Given the description of an element on the screen output the (x, y) to click on. 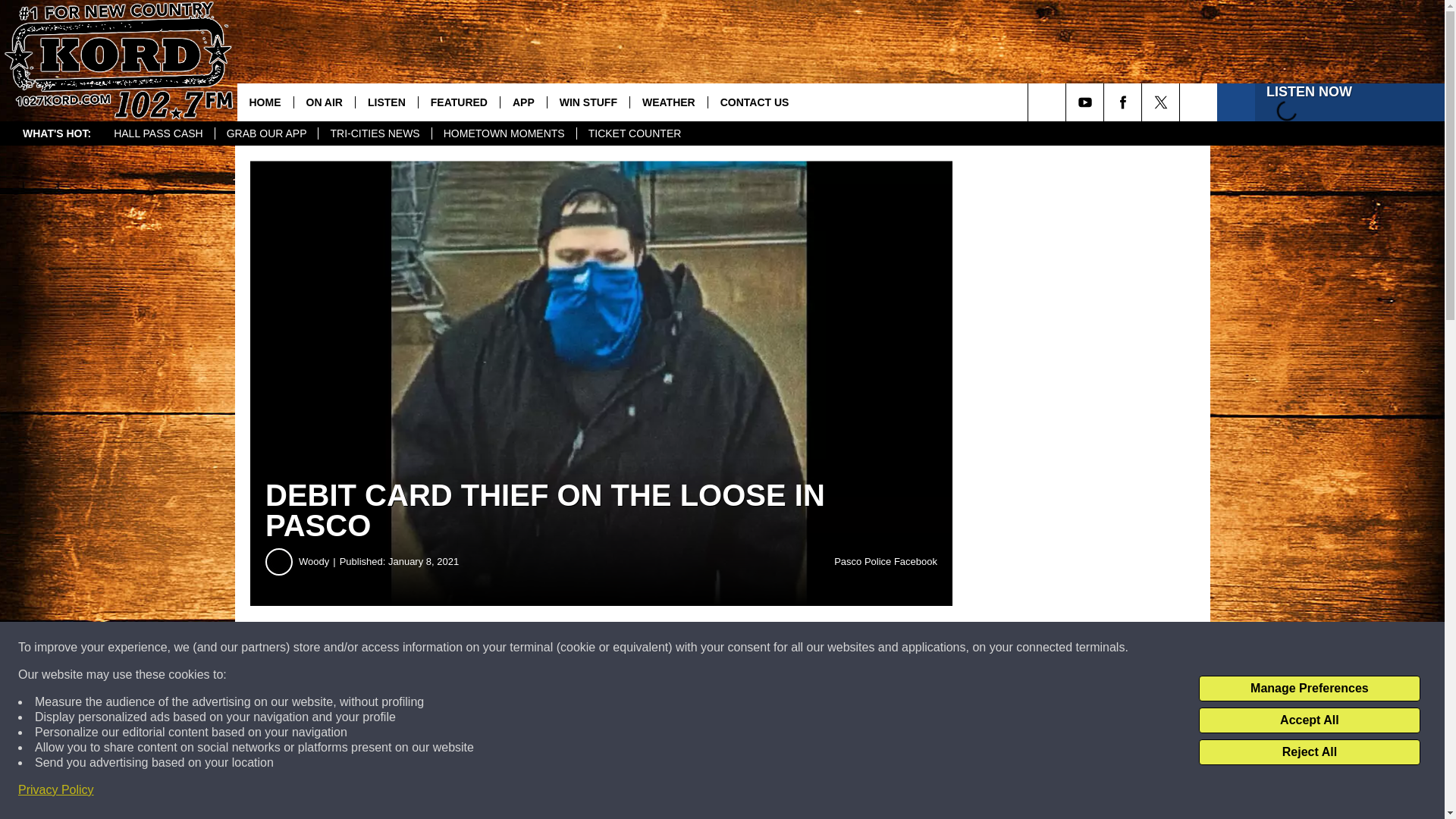
Manage Preferences (1309, 688)
Share on Facebook (460, 647)
FEATURED (458, 102)
Reject All (1309, 751)
Share on Twitter (741, 647)
Privacy Policy (55, 789)
HOME (263, 102)
TICKET COUNTER (634, 133)
WHAT'S HOT: (56, 133)
HOMETOWN MOMENTS (503, 133)
